Given the description of an element on the screen output the (x, y) to click on. 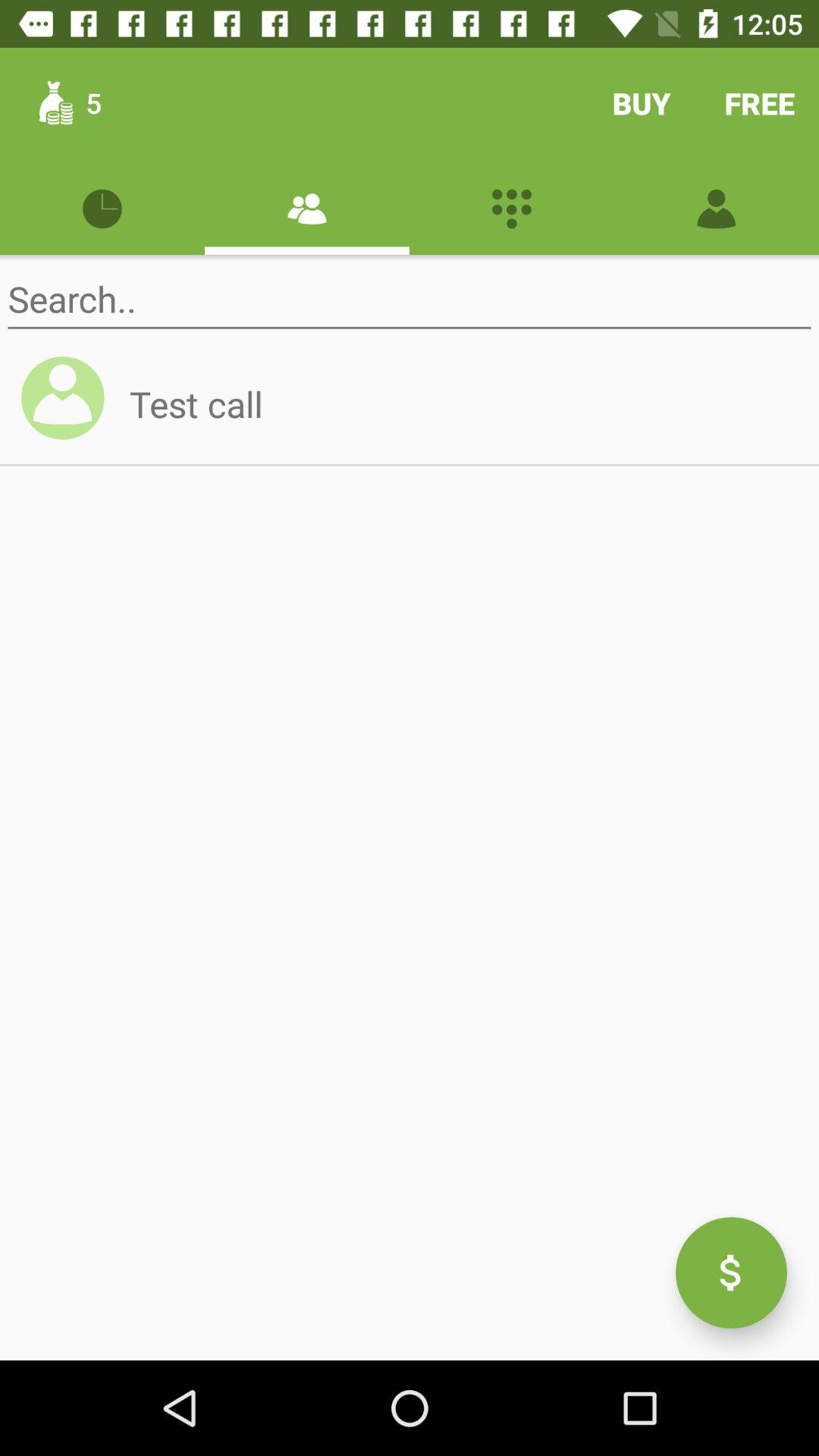
open the icon next to test call item (69, 404)
